Given the description of an element on the screen output the (x, y) to click on. 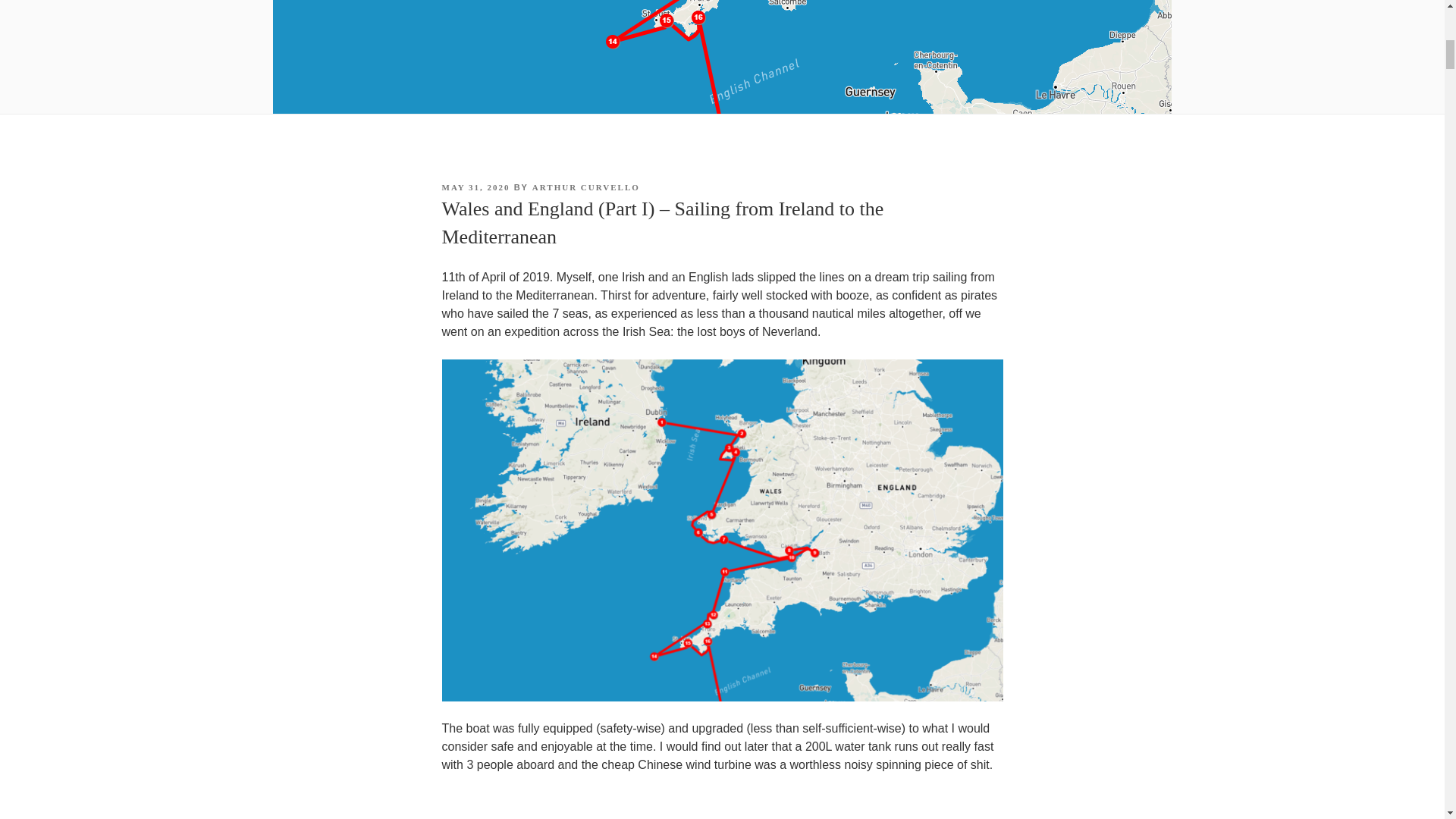
ARTHUR CURVELLO (586, 186)
MAY 31, 2020 (475, 186)
